Given the description of an element on the screen output the (x, y) to click on. 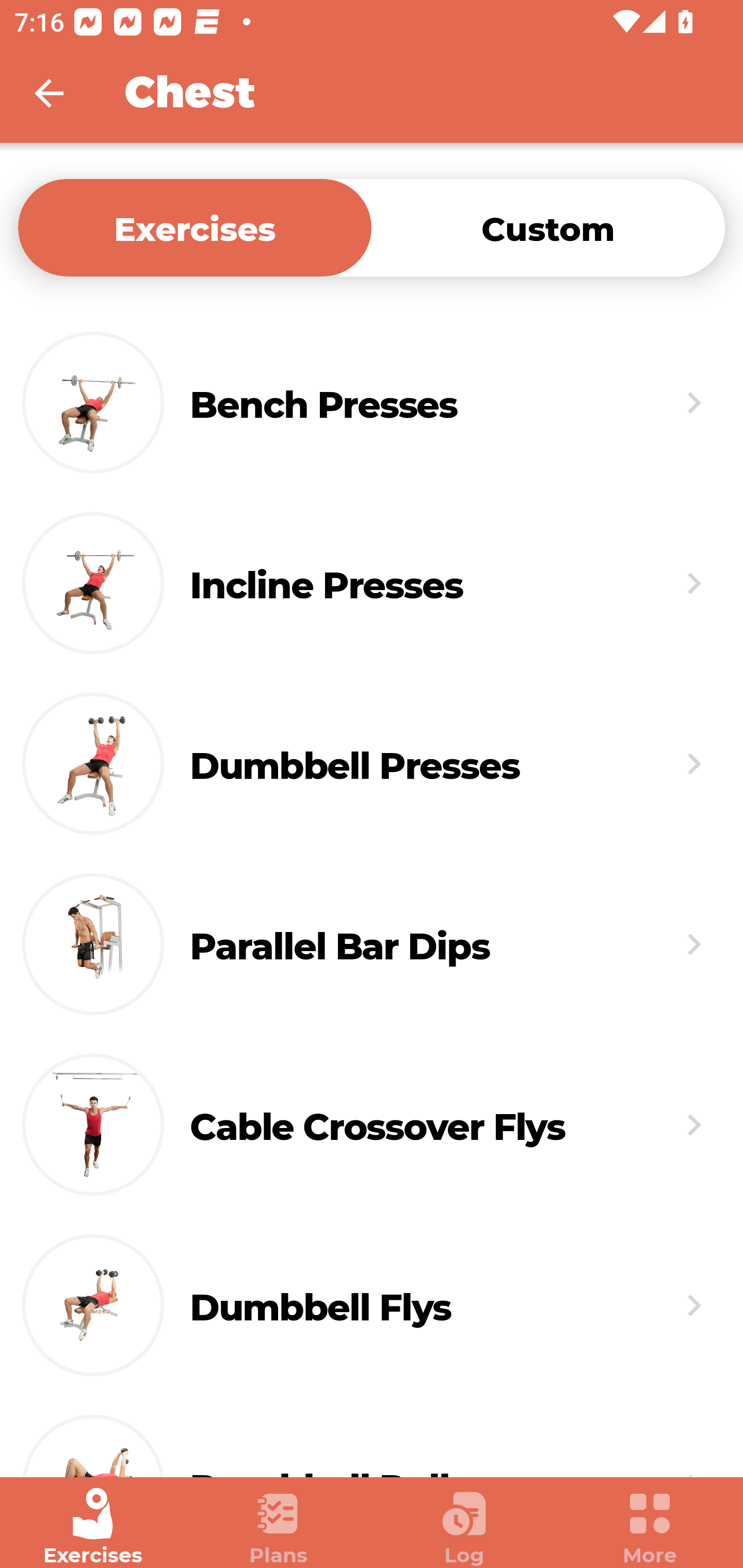
Back (62, 92)
Exercises (194, 226)
Custom (548, 226)
Exercises (92, 1527)
Plans (278, 1527)
Log (464, 1527)
More (650, 1527)
